Given the description of an element on the screen output the (x, y) to click on. 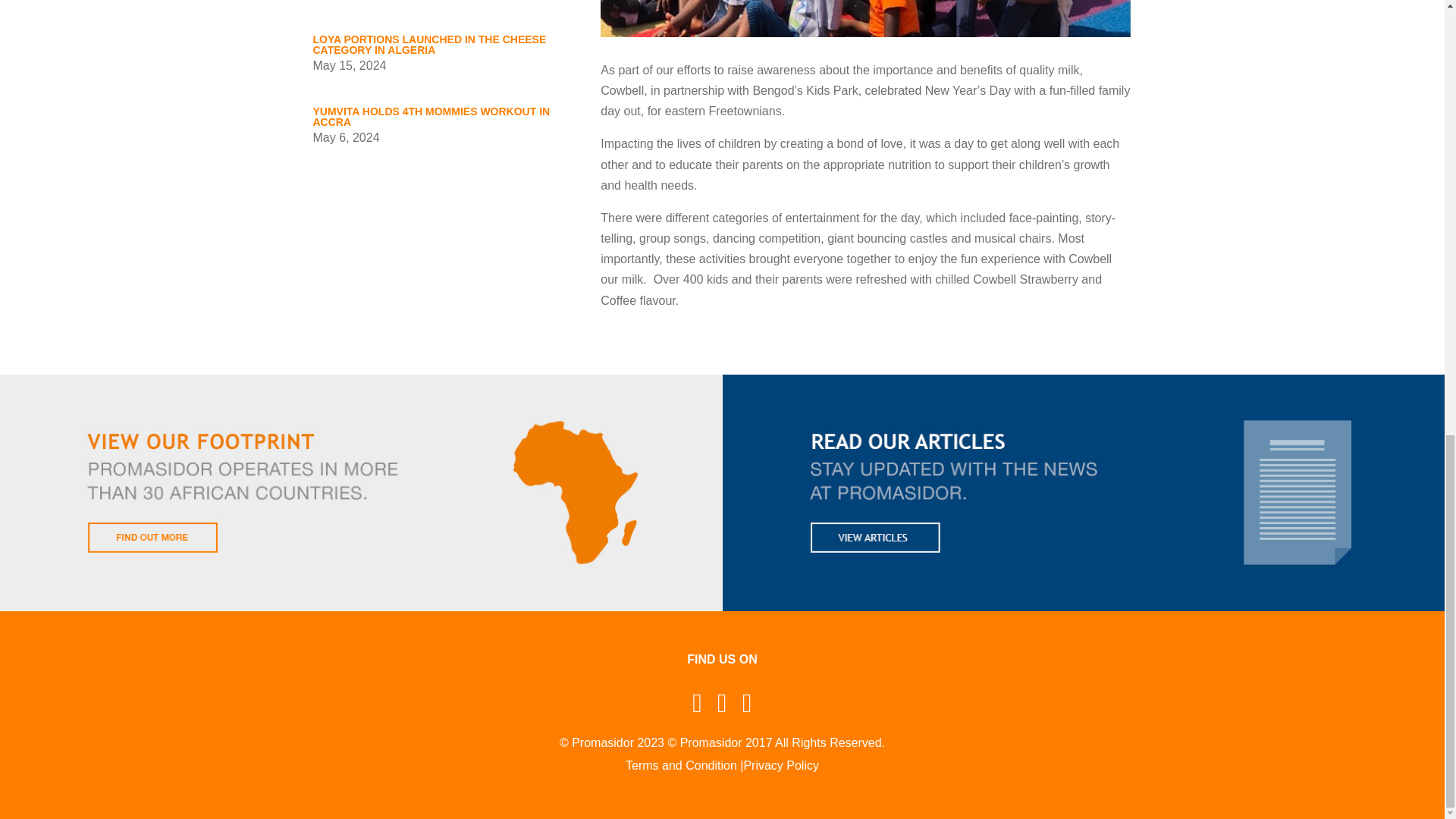
LOYA PORTIONS LAUNCHED IN THE CHEESE CATEGORY IN ALGERIA (429, 44)
YUMVITA HOLDS 4TH MOMMIES WORKOUT IN ACCRA (431, 116)
